Given the description of an element on the screen output the (x, y) to click on. 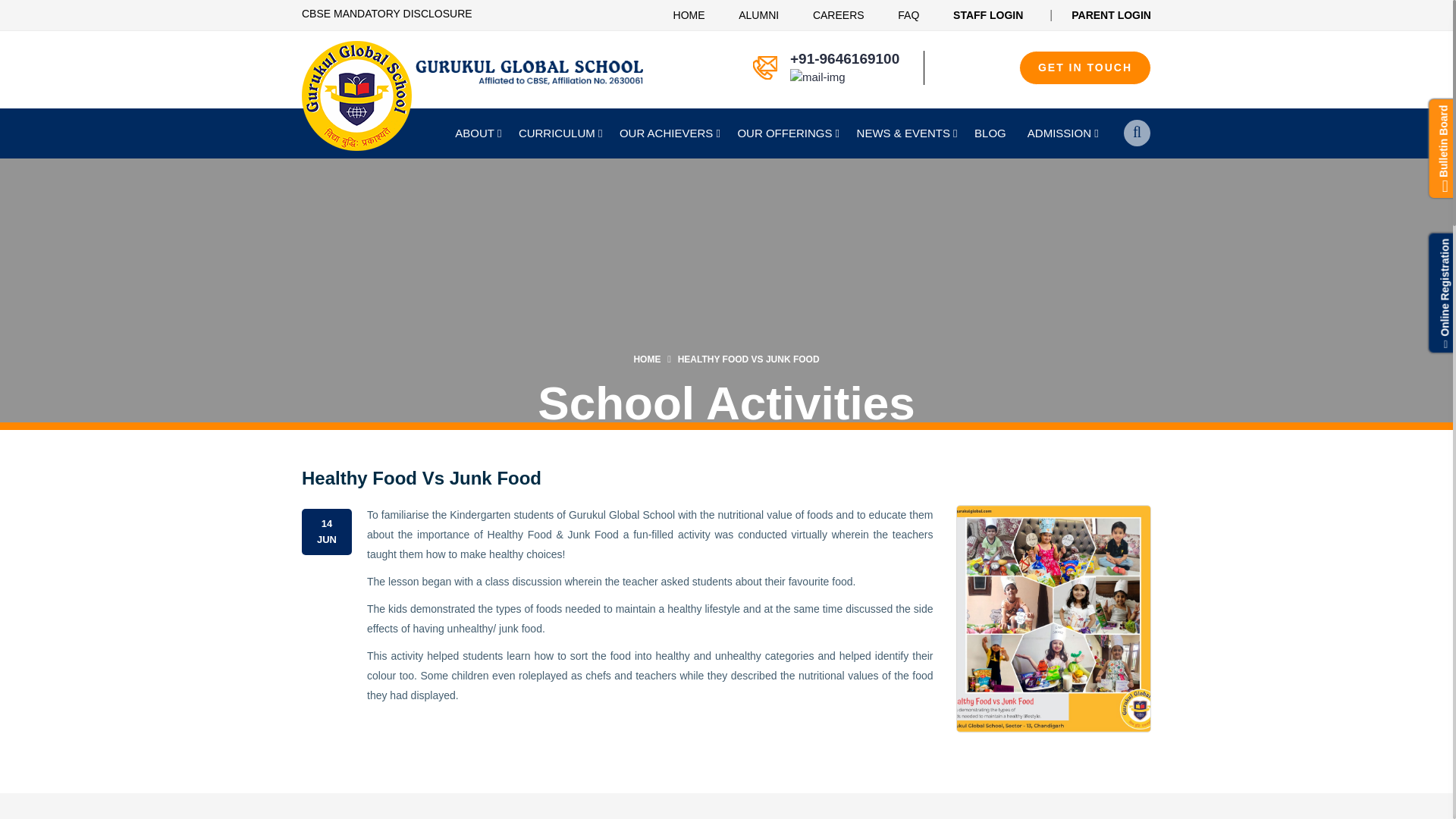
HOME (688, 15)
CBSE MANDATORY DISCLOSURE (386, 13)
Gurkul (472, 71)
ALUMNI (758, 15)
CAREERS (838, 15)
Gurkul (356, 95)
CURRICULUM (558, 133)
OUR ACHIEVERS (667, 133)
STAFF LOGIN (988, 15)
ABOUT (476, 133)
